Given the description of an element on the screen output the (x, y) to click on. 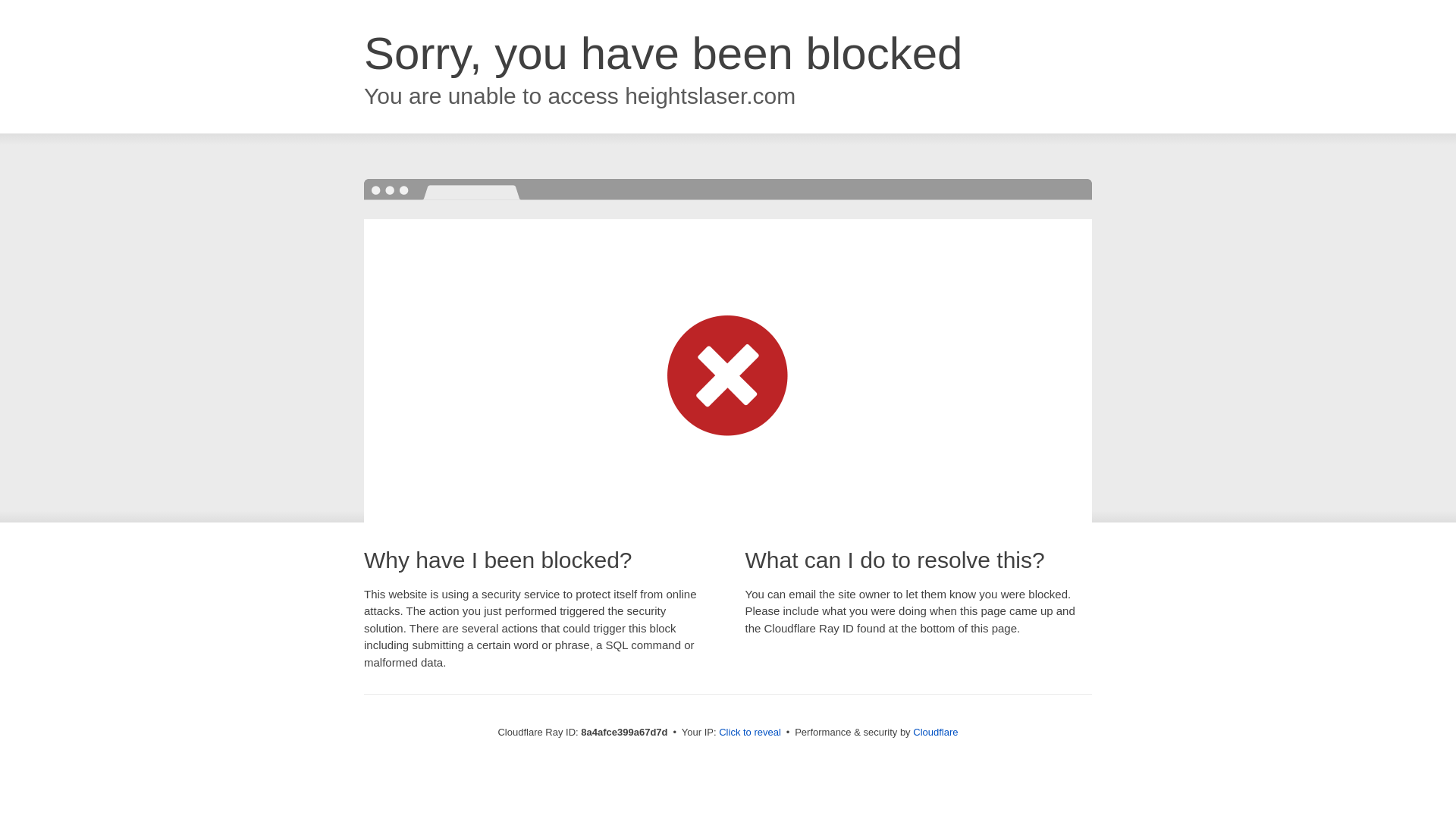
Click to reveal (749, 732)
Cloudflare (935, 731)
